Given the description of an element on the screen output the (x, y) to click on. 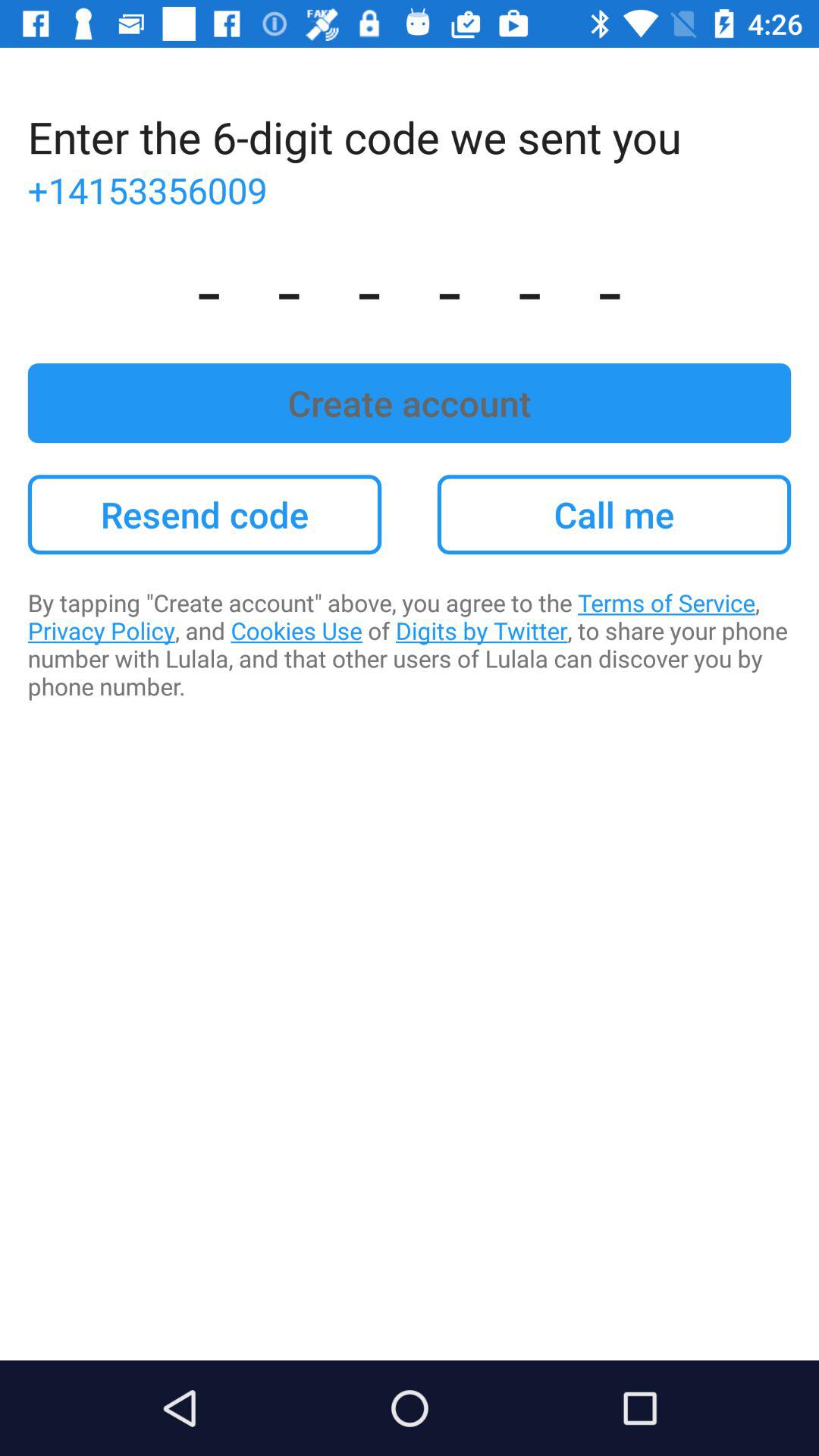
tap app at the center (409, 644)
